Given the description of an element on the screen output the (x, y) to click on. 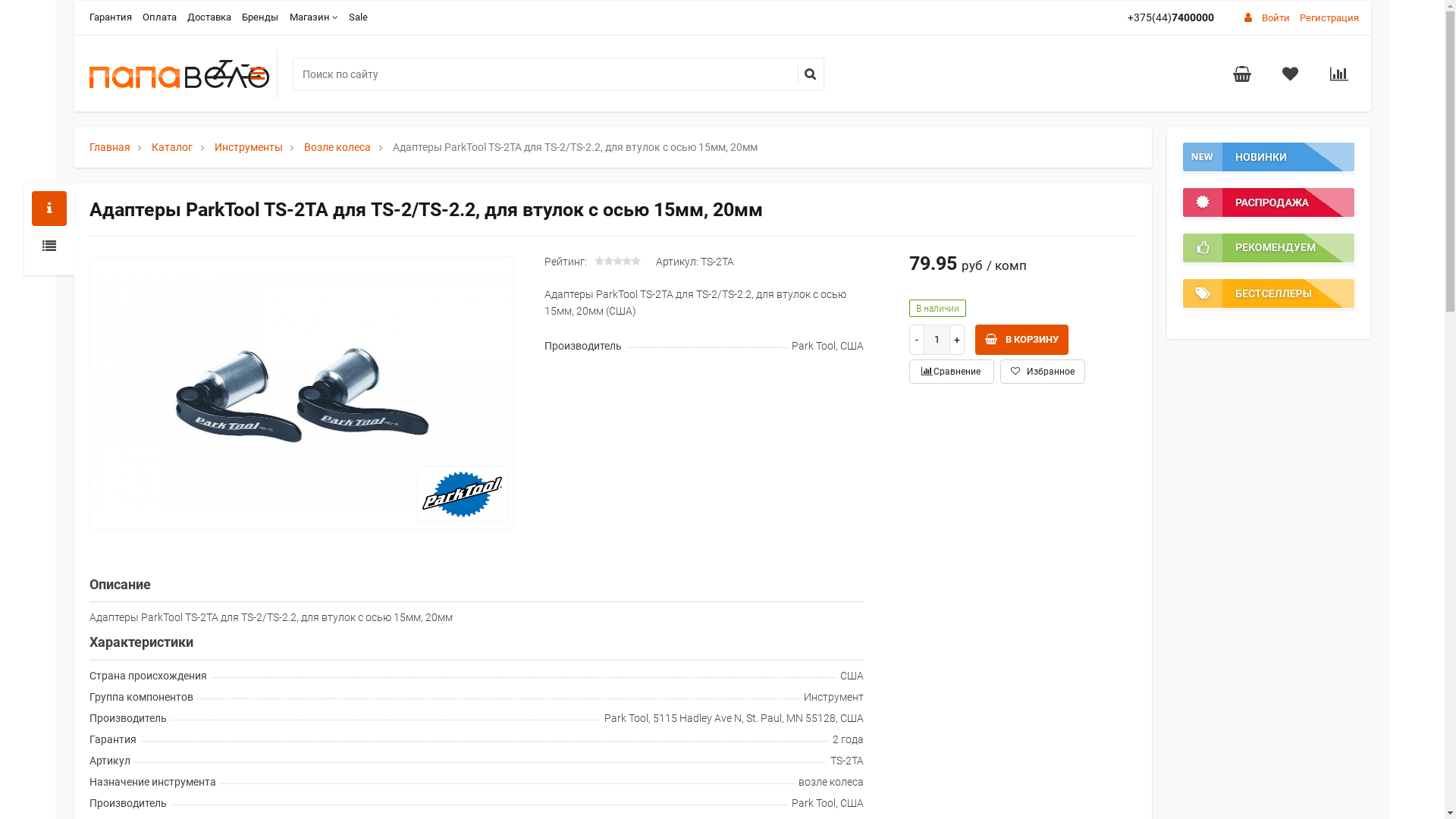
+375(44)7400000 Element type: text (1173, 17)
PapaVelo Element type: hover (182, 73)
Sale Element type: text (357, 16)
26387 Element type: text (45, 29)
